Given the description of an element on the screen output the (x, y) to click on. 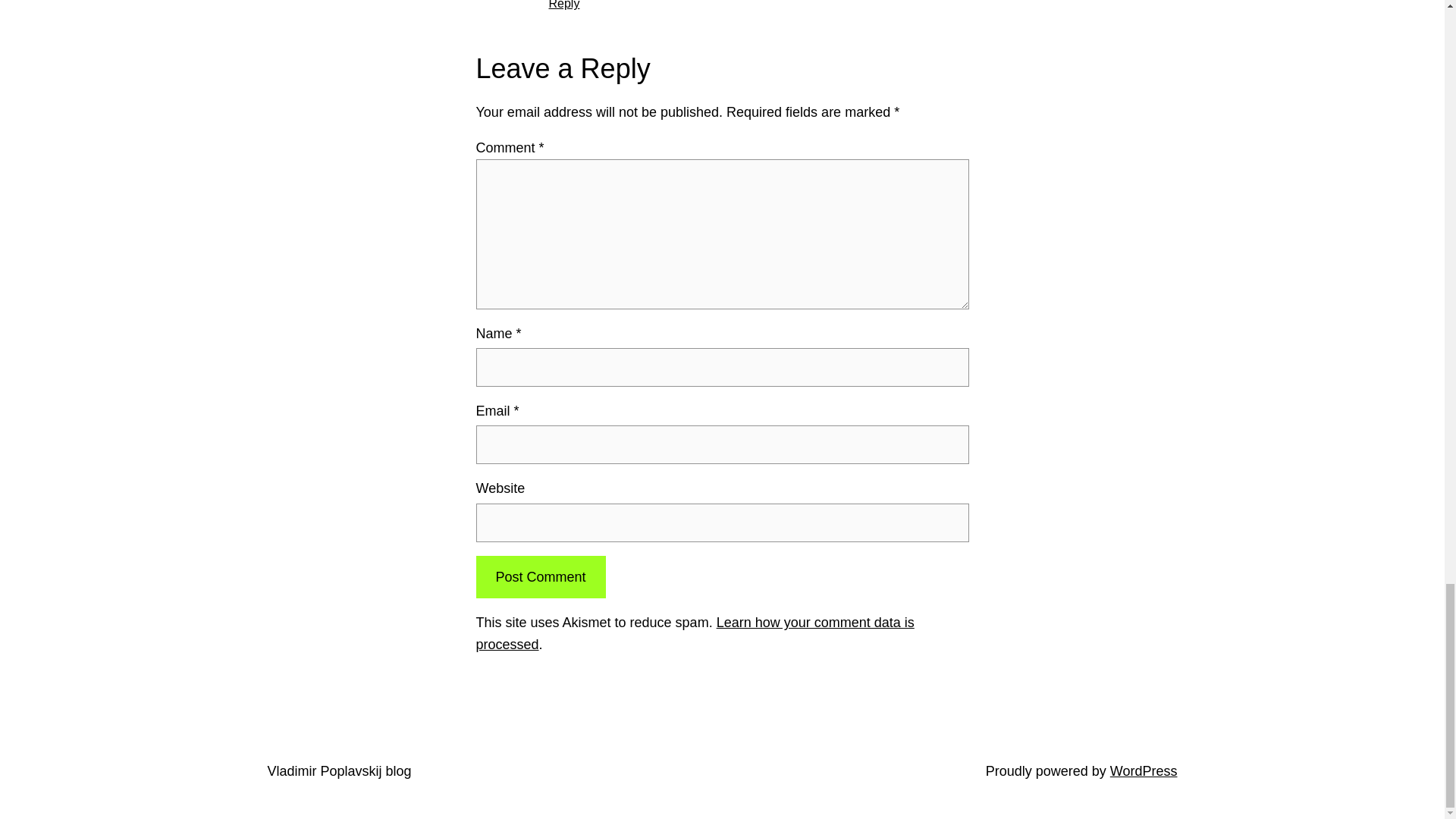
Post Comment (540, 577)
WordPress (1143, 770)
Reply (563, 4)
Learn how your comment data is processed (695, 633)
Vladimir Poplavskij blog (338, 770)
Post Comment (540, 577)
